Given the description of an element on the screen output the (x, y) to click on. 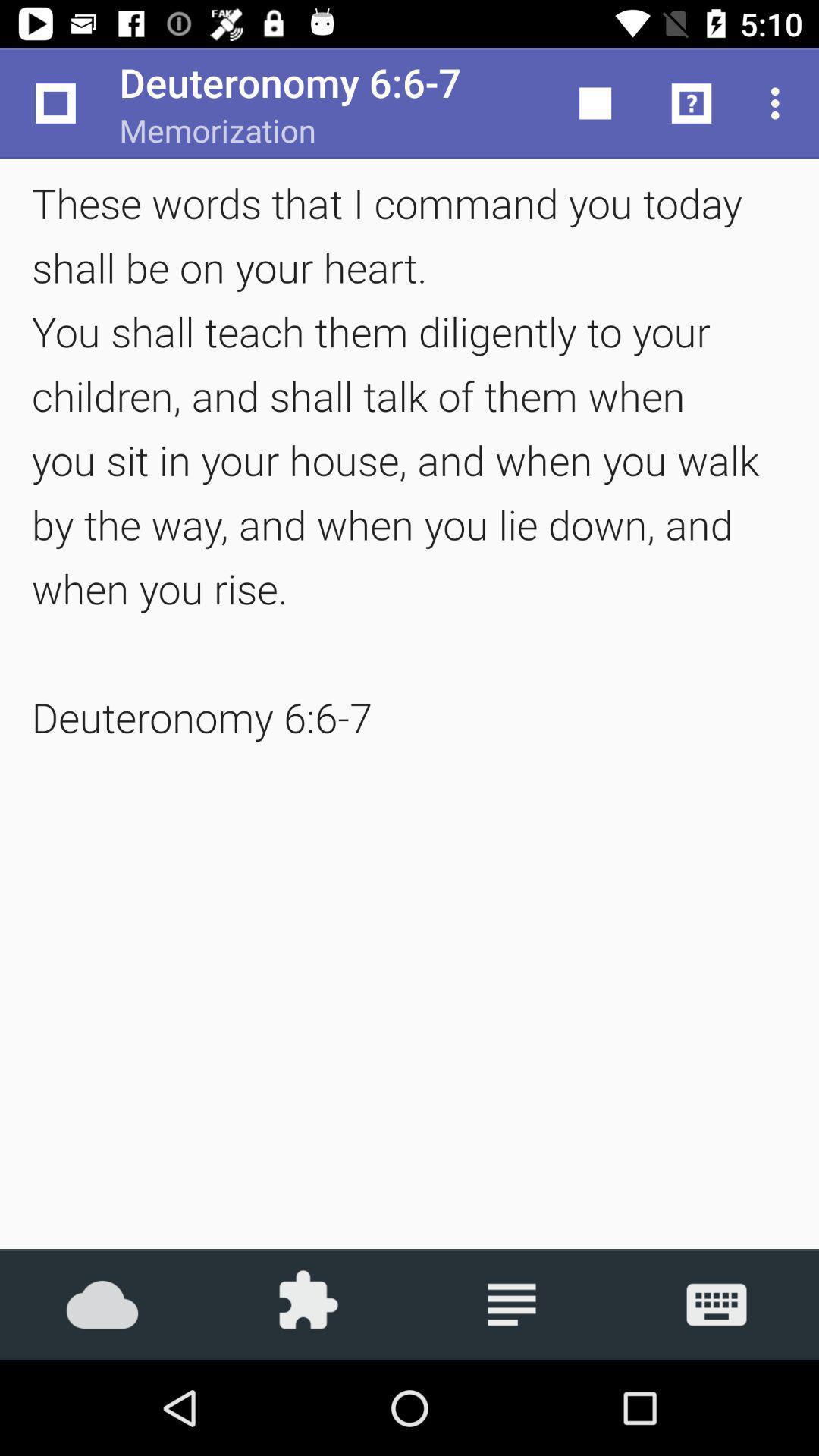
click these words that icon (409, 459)
